Given the description of an element on the screen output the (x, y) to click on. 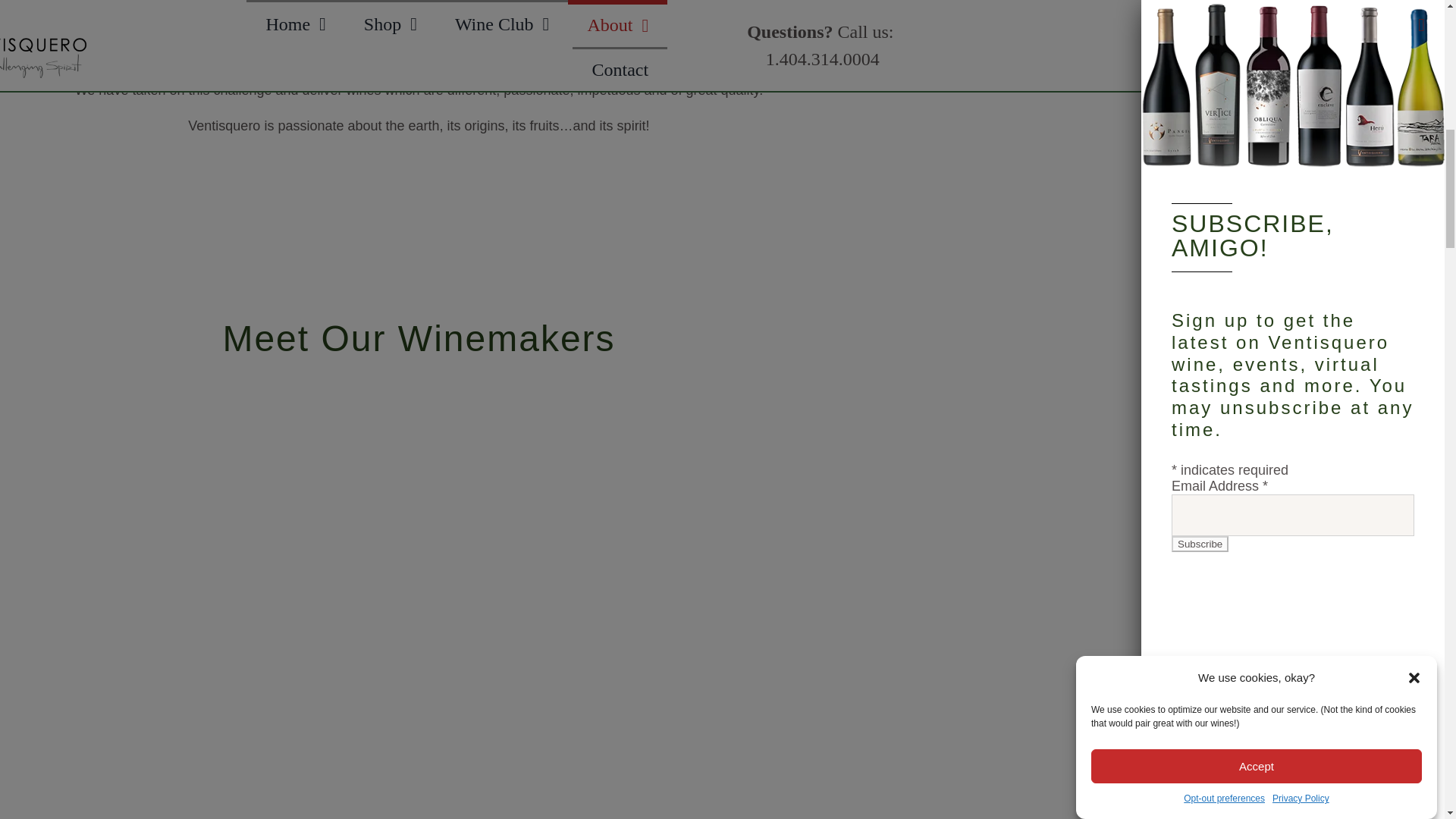
Privacy Policy (1300, 54)
Opt-out preferences (1256, 121)
